Given the description of an element on the screen output the (x, y) to click on. 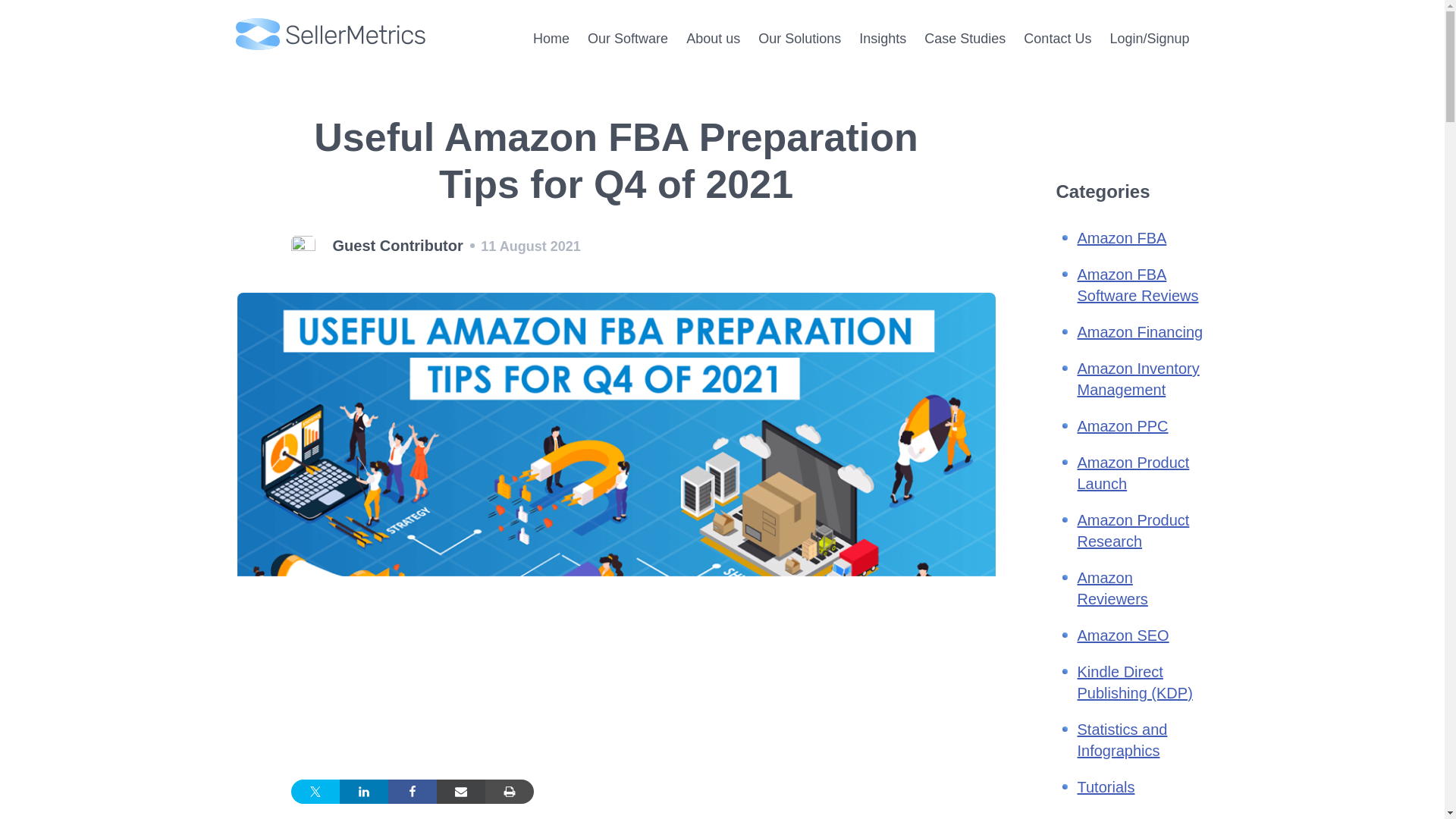
Share on LinkedIn (363, 791)
Case Studies (965, 38)
Share on Twitter (315, 791)
Share on Facebook (412, 791)
Contact Us (1056, 38)
Share via Email (460, 791)
Print this Page (509, 791)
About us (712, 38)
Home (550, 38)
